Given the description of an element on the screen output the (x, y) to click on. 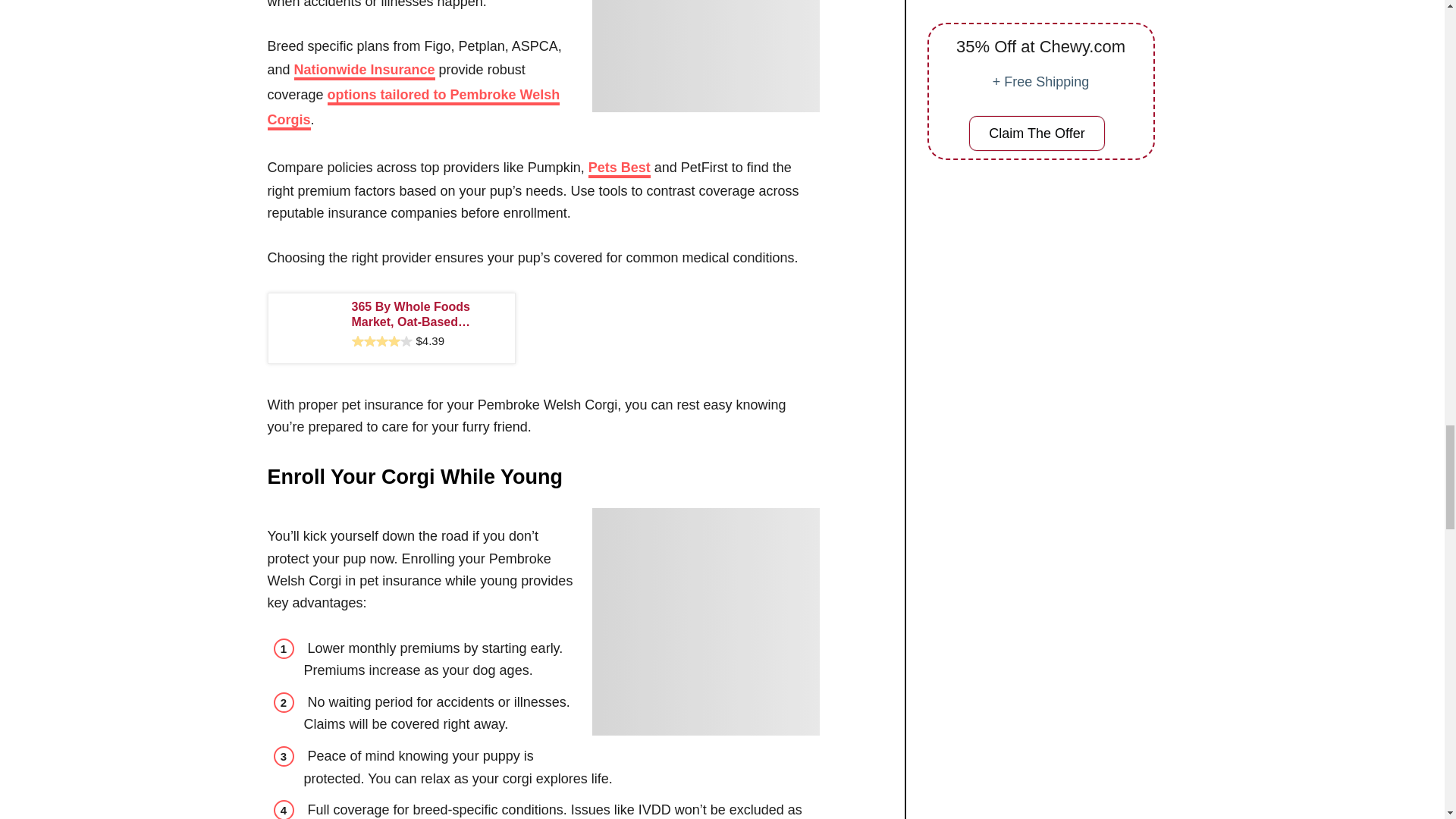
Pets Best (619, 168)
options tailored to Pembroke Welsh Corgis (412, 108)
Nationwide Insurance (364, 71)
